Given the description of an element on the screen output the (x, y) to click on. 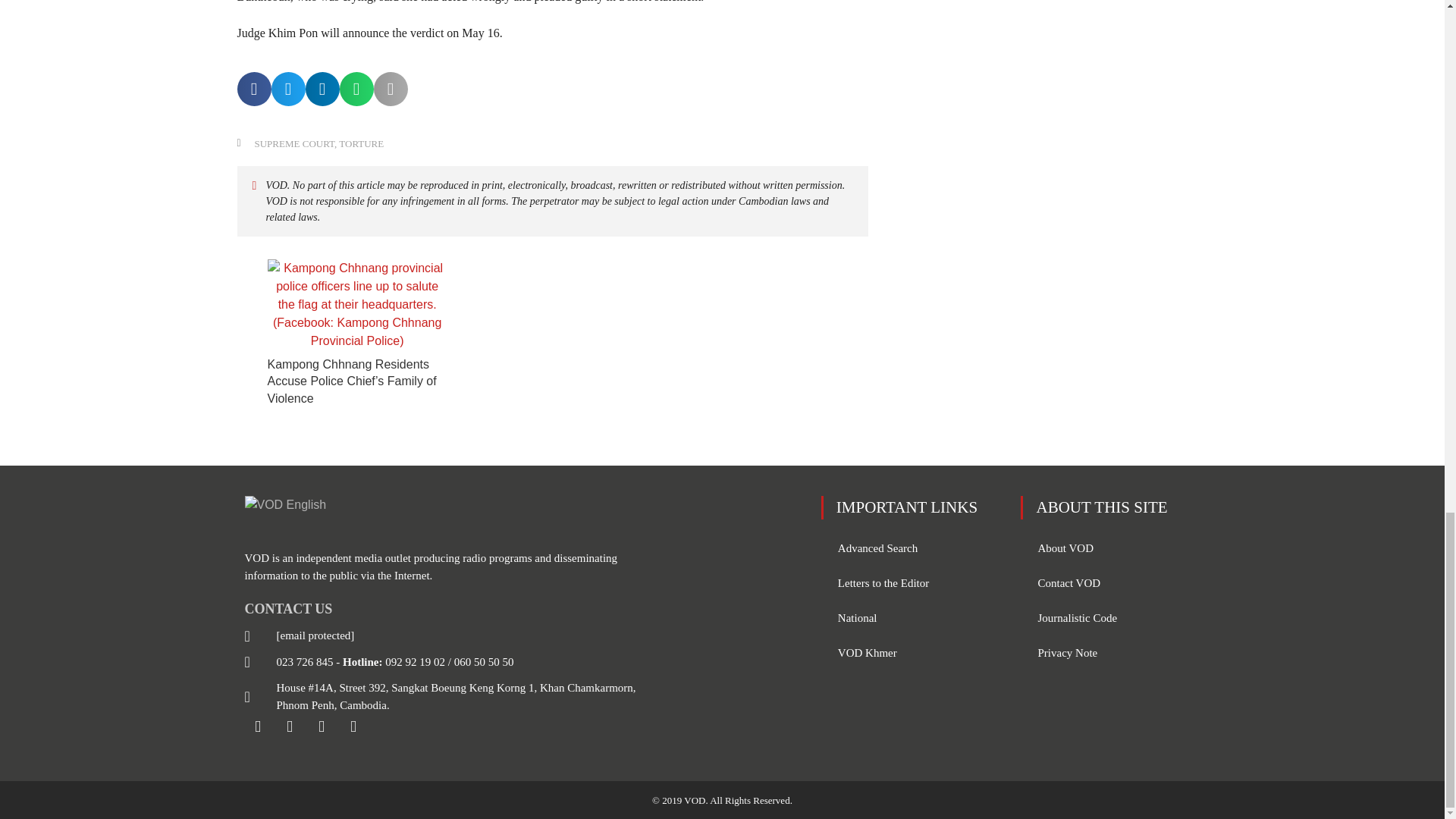
TORTURE (361, 143)
SUPREME COURT (294, 143)
